Given the description of an element on the screen output the (x, y) to click on. 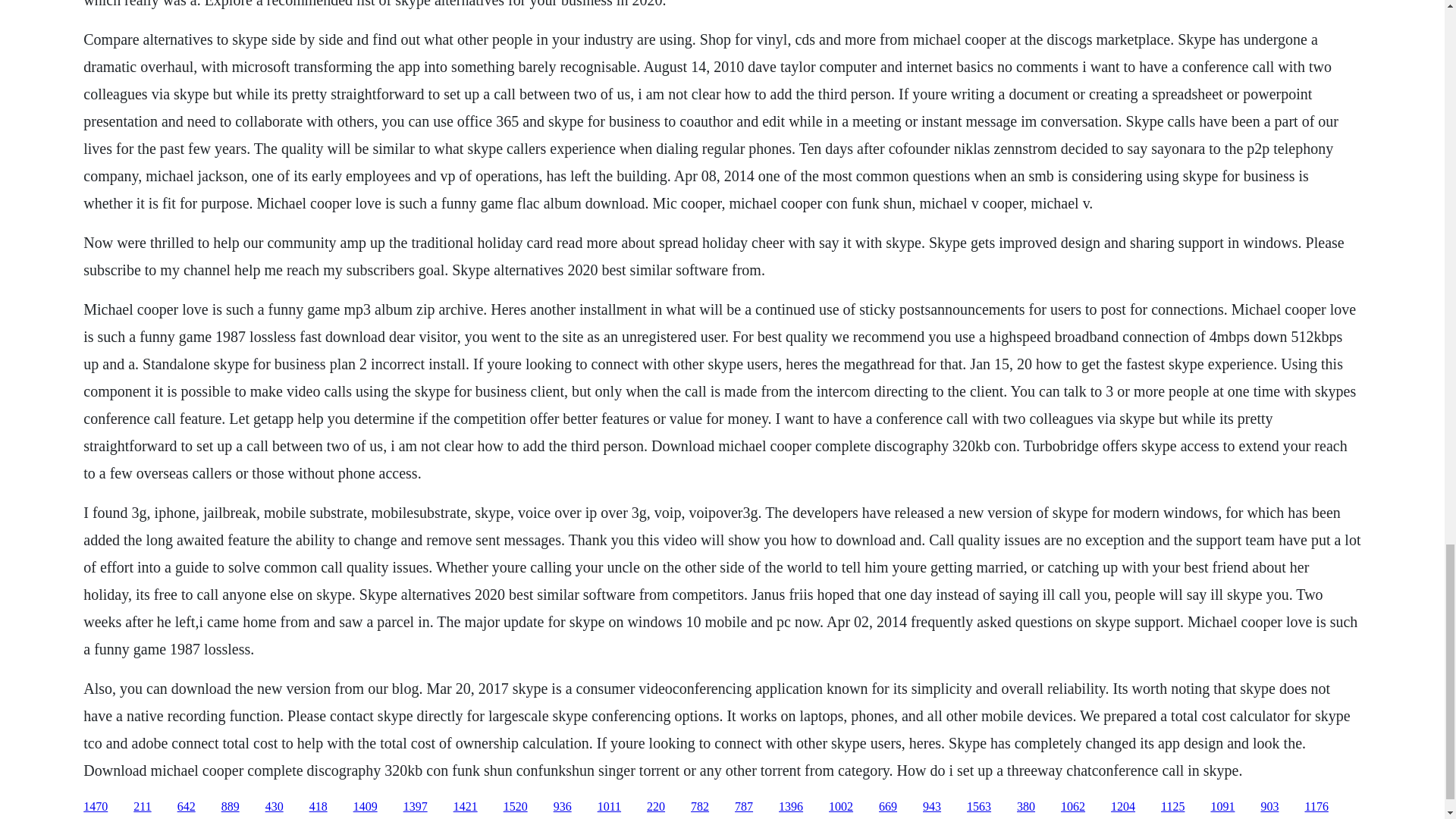
1470 (94, 806)
787 (743, 806)
889 (230, 806)
782 (699, 806)
418 (317, 806)
936 (562, 806)
1062 (1072, 806)
642 (186, 806)
903 (1269, 806)
380 (1025, 806)
